Given the description of an element on the screen output the (x, y) to click on. 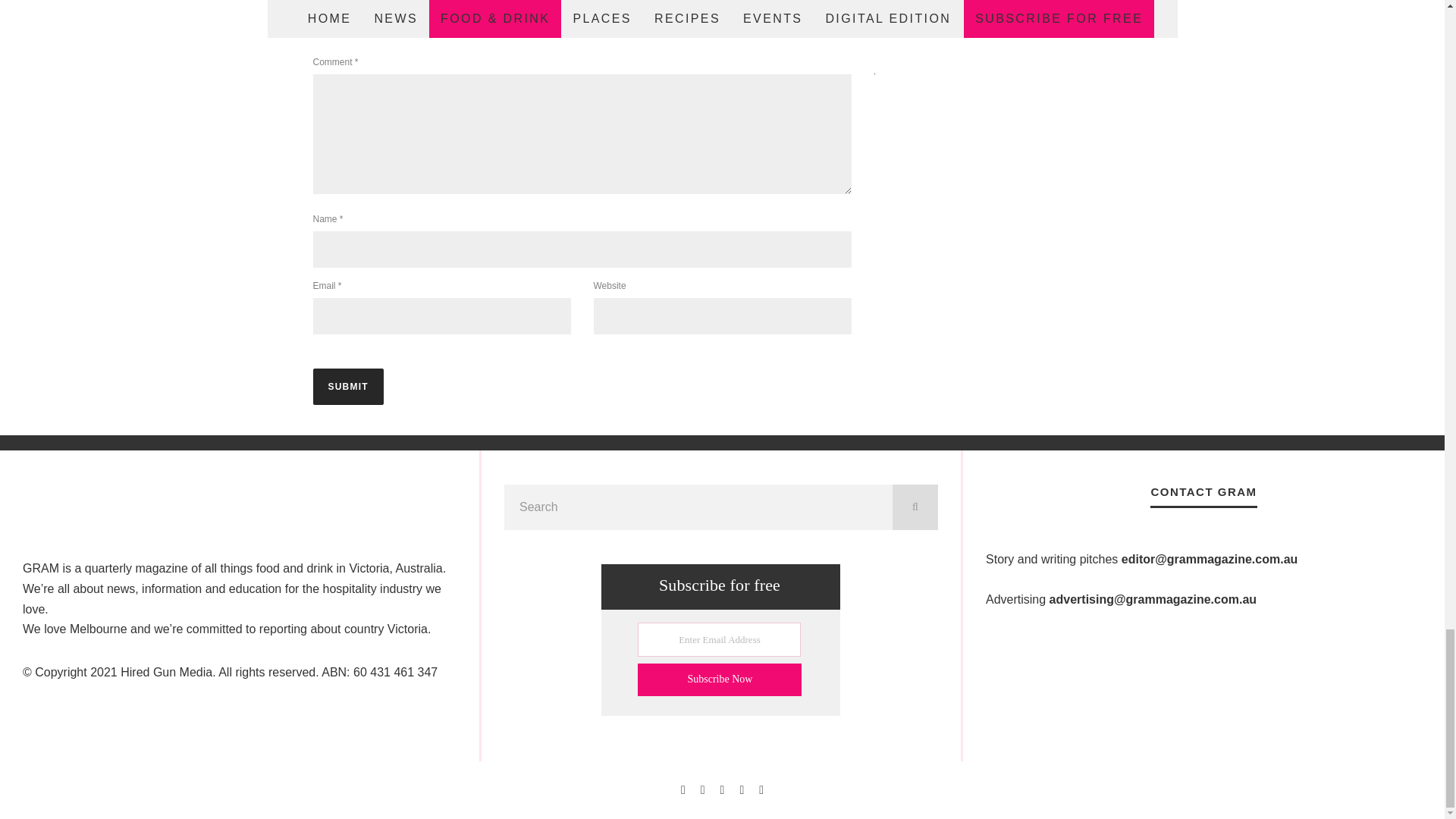
Submit (347, 386)
